Given the description of an element on the screen output the (x, y) to click on. 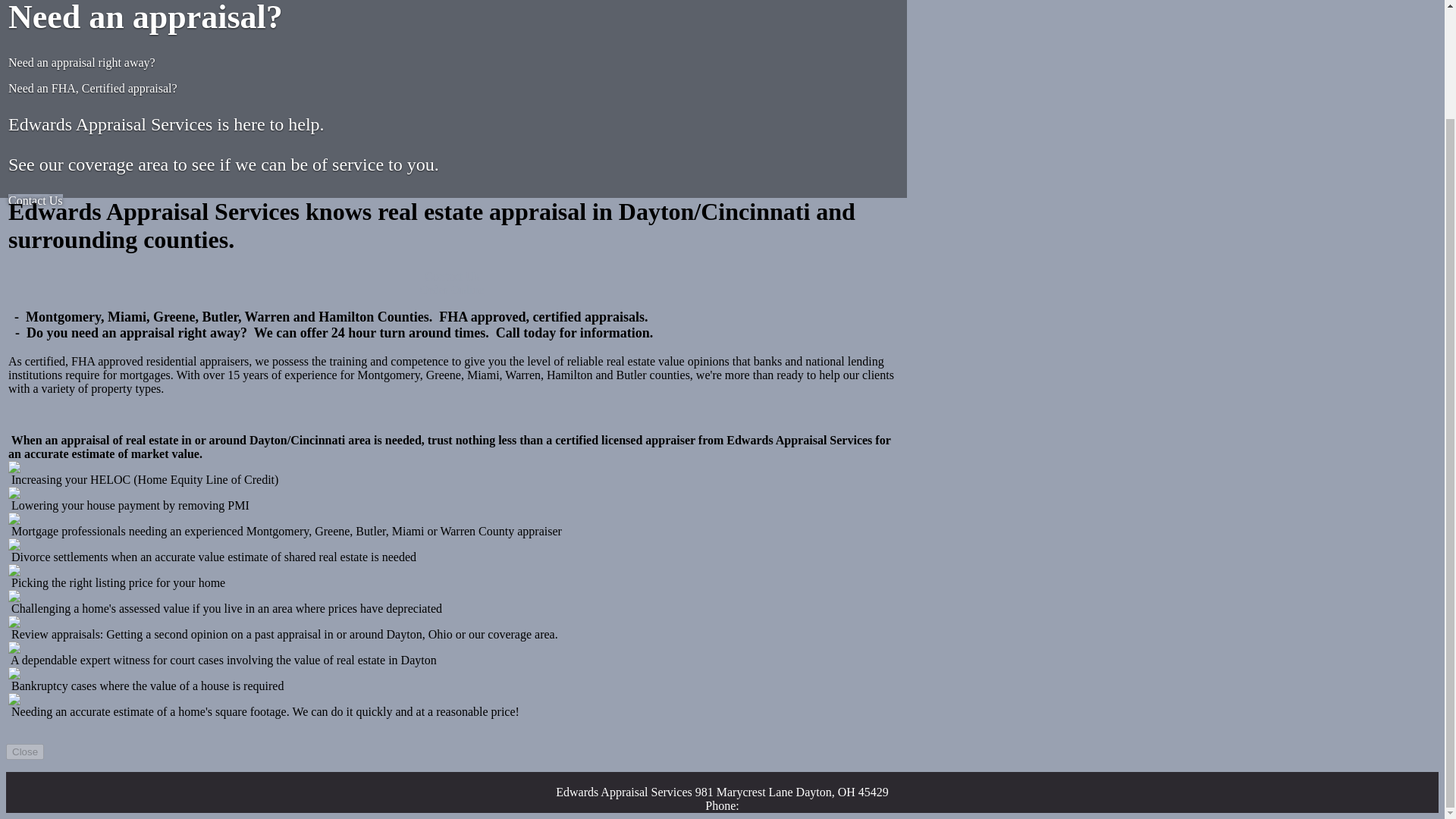
Contact Us (452, 276)
Contact Us (35, 200)
Close (24, 751)
Order Online (452, 289)
